Given the description of an element on the screen output the (x, y) to click on. 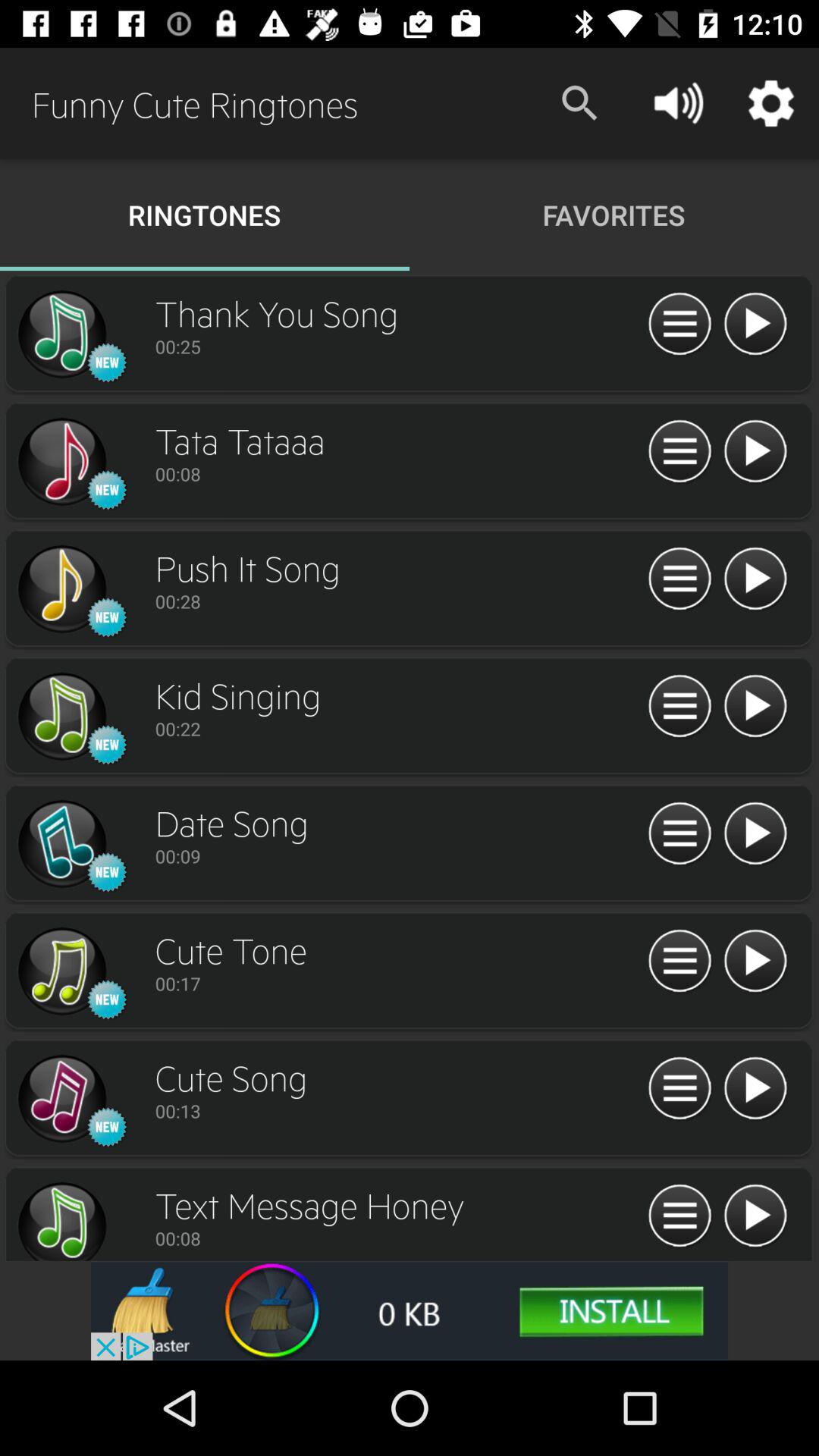
switch autoplay option (61, 334)
